Given the description of an element on the screen output the (x, y) to click on. 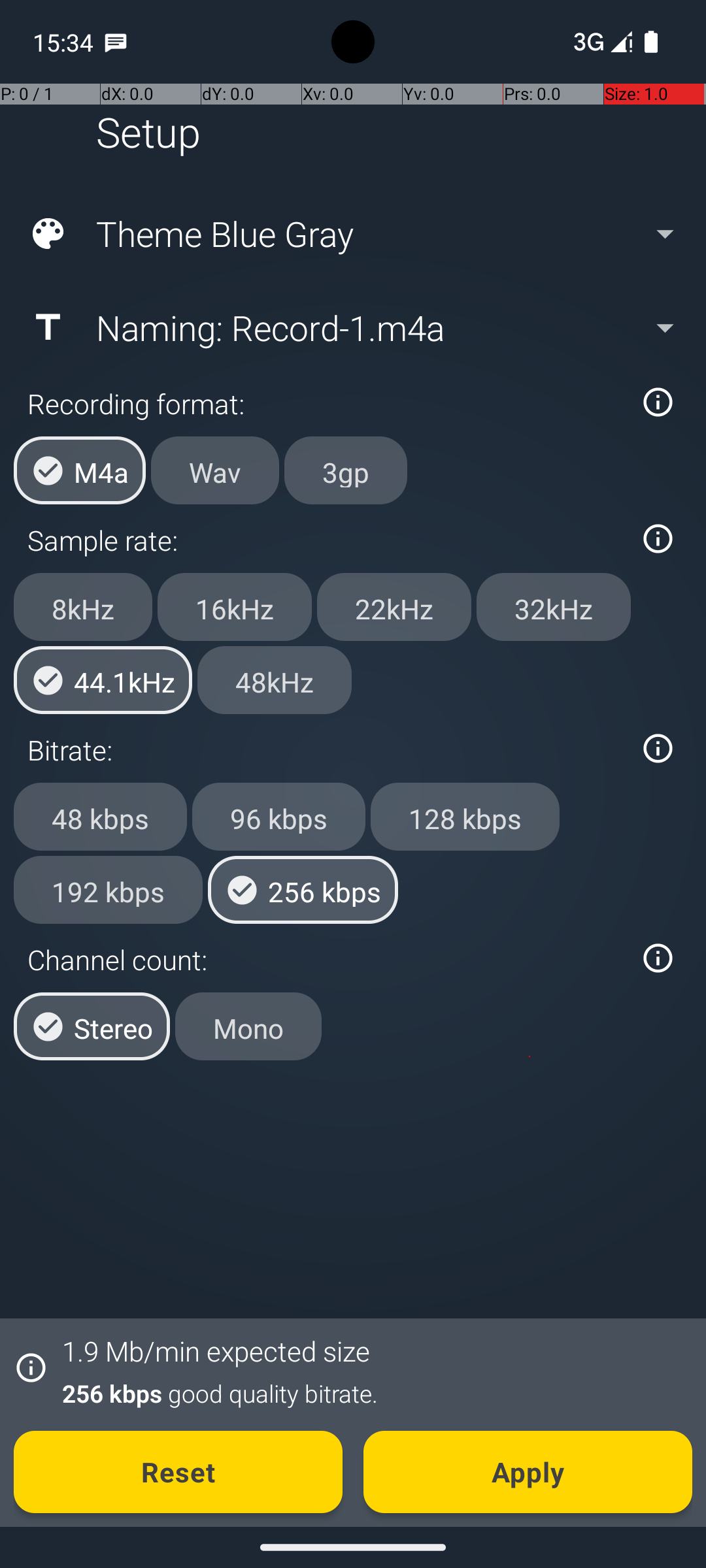
1.9 Mb/min expected size Element type: android.widget.TextView (215, 1350)
256 kbps good quality bitrate. Element type: android.widget.TextView (370, 1392)
